Given the description of an element on the screen output the (x, y) to click on. 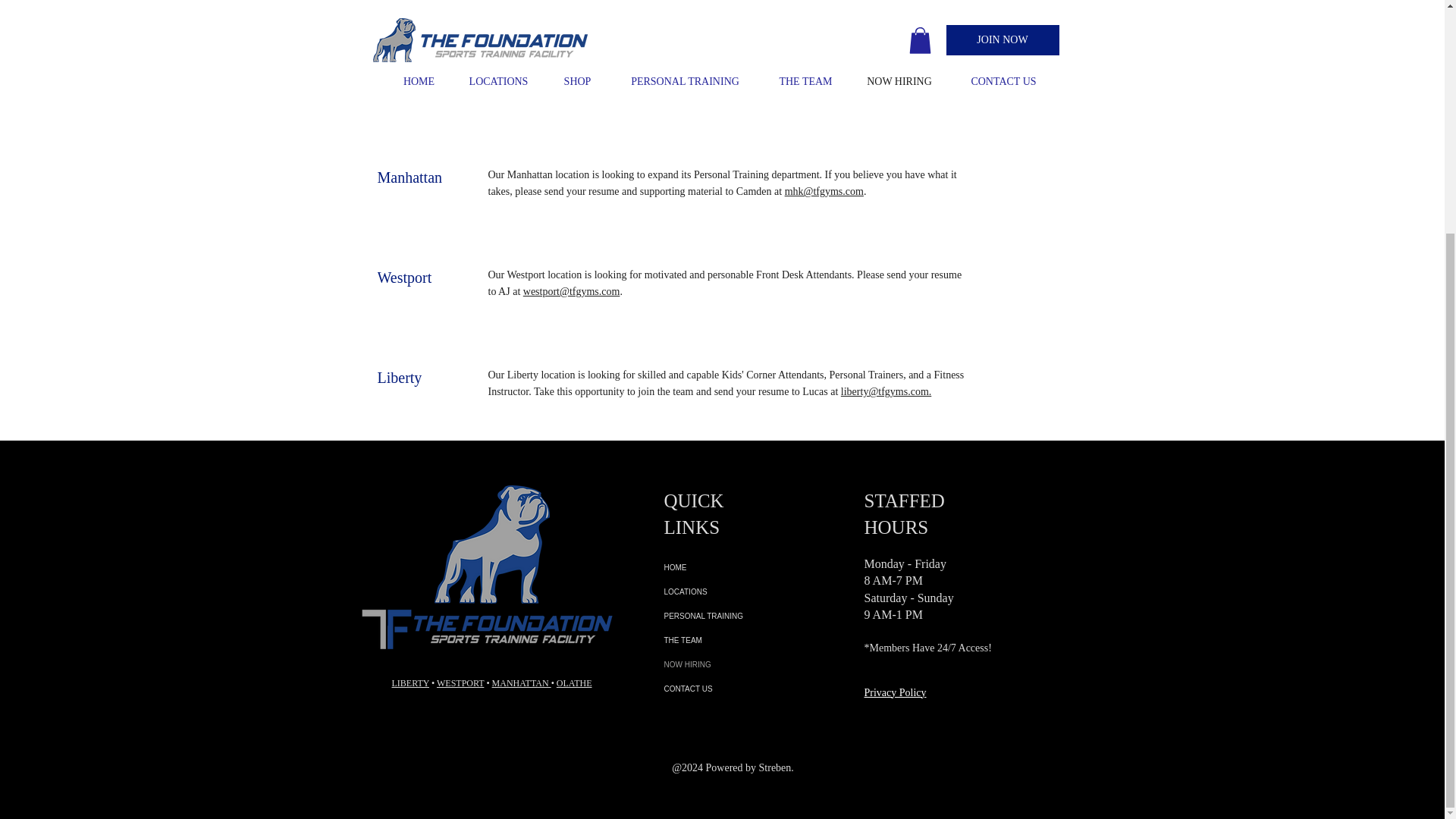
LIBERTY (410, 683)
LOCATIONS (742, 591)
HOME (742, 567)
NOW HIRING (742, 664)
MANHATTAN  (521, 683)
THE TEAM (742, 640)
PERSONAL TRAINING (742, 616)
CONTACT US (742, 689)
Privacy Policy (895, 692)
OLATHE (574, 683)
WESTPORT (459, 683)
